Given the description of an element on the screen output the (x, y) to click on. 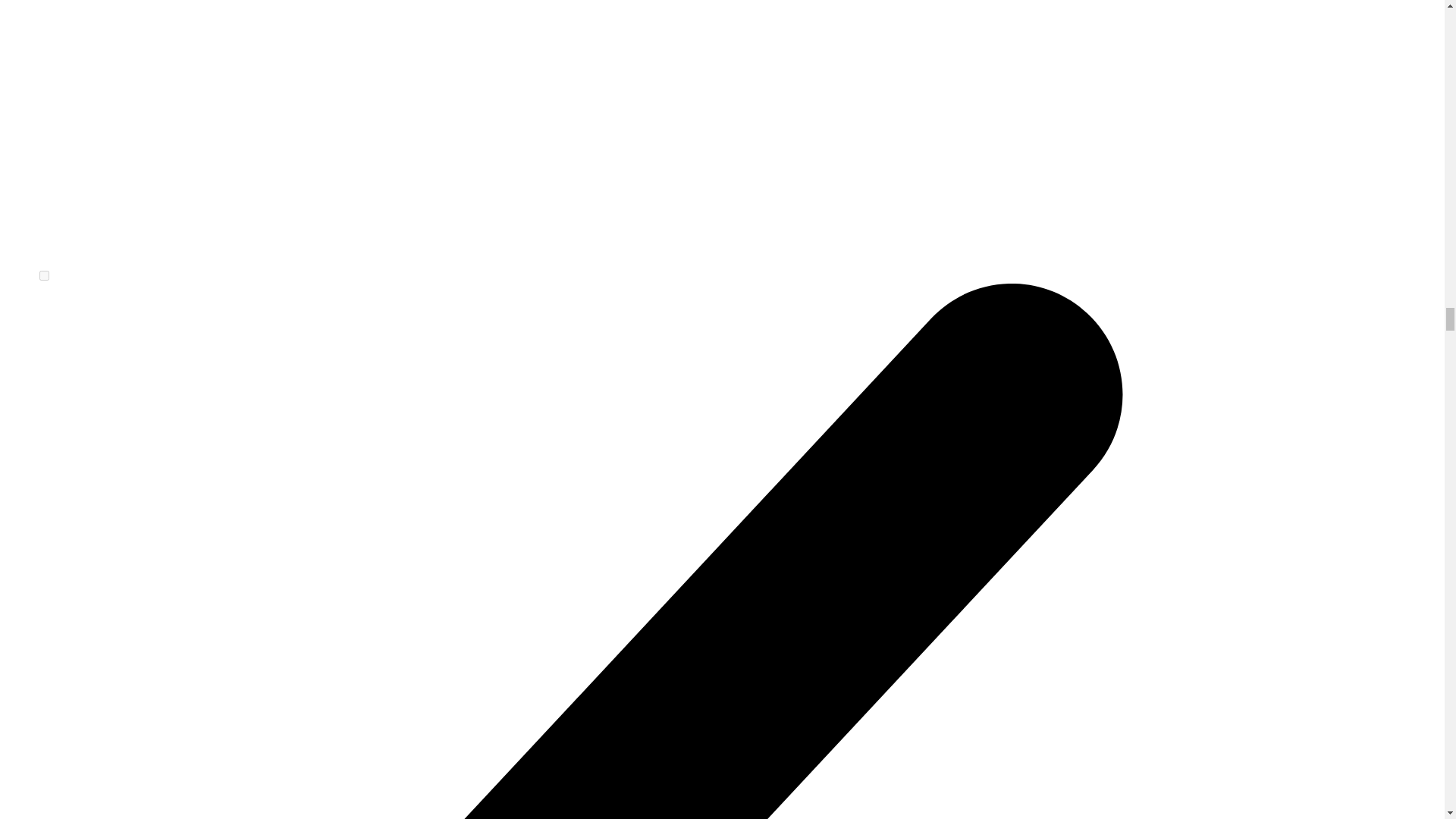
on (44, 275)
